Given the description of an element on the screen output the (x, y) to click on. 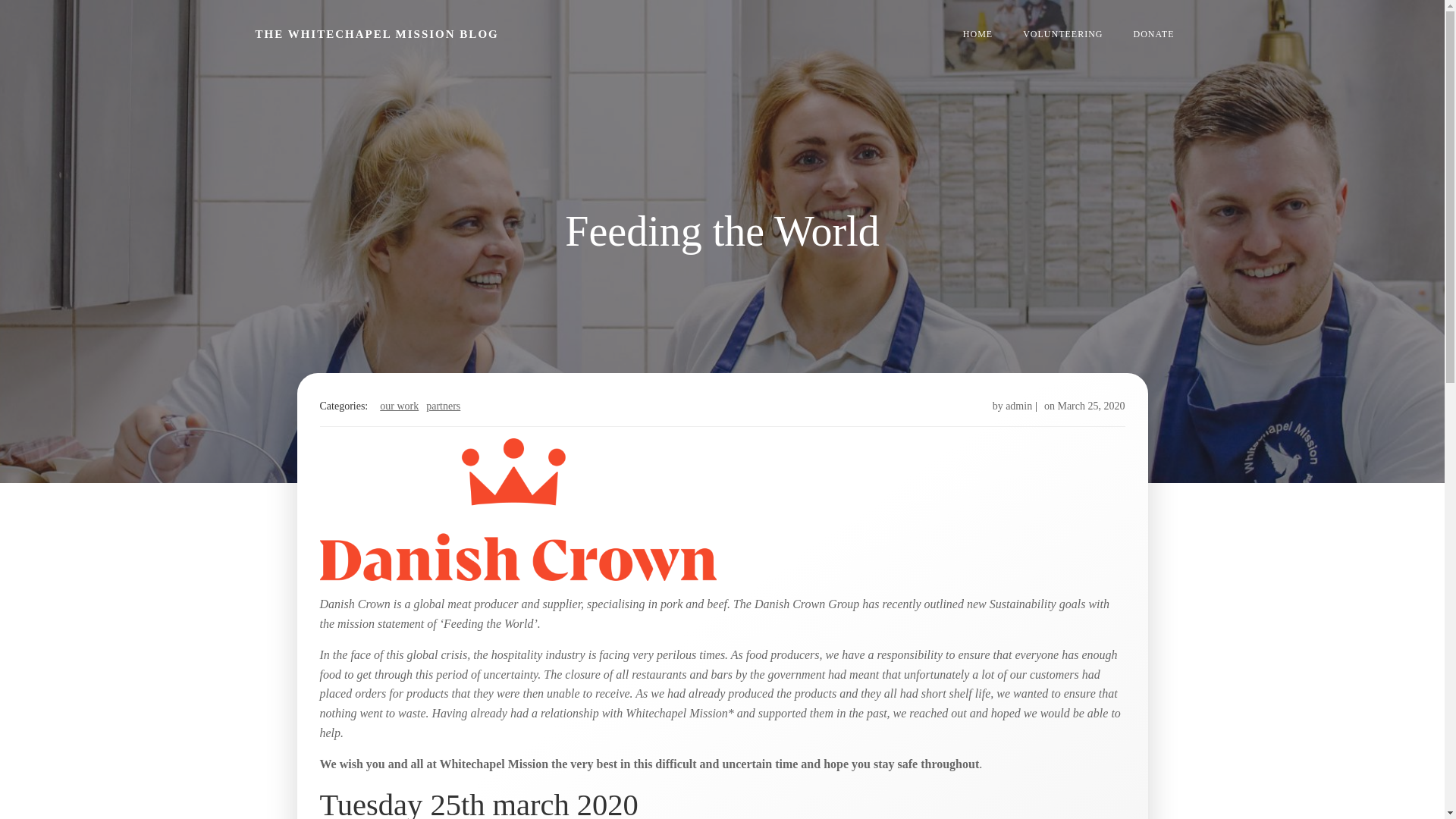
DONATE (1152, 33)
VOLUNTEERING (1062, 33)
HOME (977, 33)
our work (399, 406)
partners (443, 406)
admin (1019, 406)
March 25, 2020 (1090, 406)
THE WHITECHAPEL MISSION BLOG (375, 34)
